Given the description of an element on the screen output the (x, y) to click on. 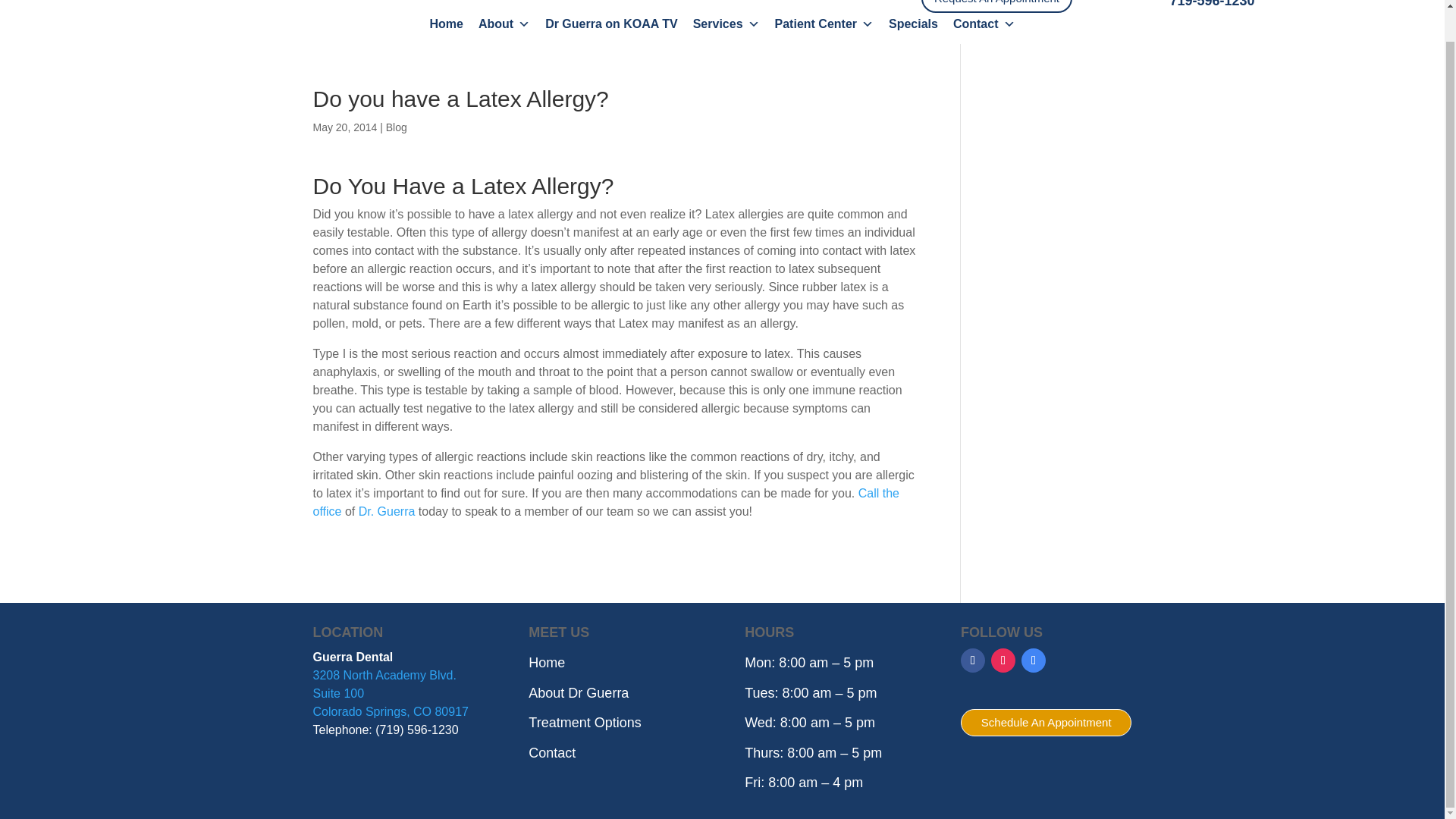
Services (726, 24)
Dr Guerra on KOAA TV (611, 24)
Follow on Google (1033, 660)
Request An Appointment (996, 6)
Follow on Instagram (1002, 660)
Home (446, 24)
About (503, 24)
719-596-1230 (1211, 4)
Follow on Facebook (972, 660)
